Given the description of an element on the screen output the (x, y) to click on. 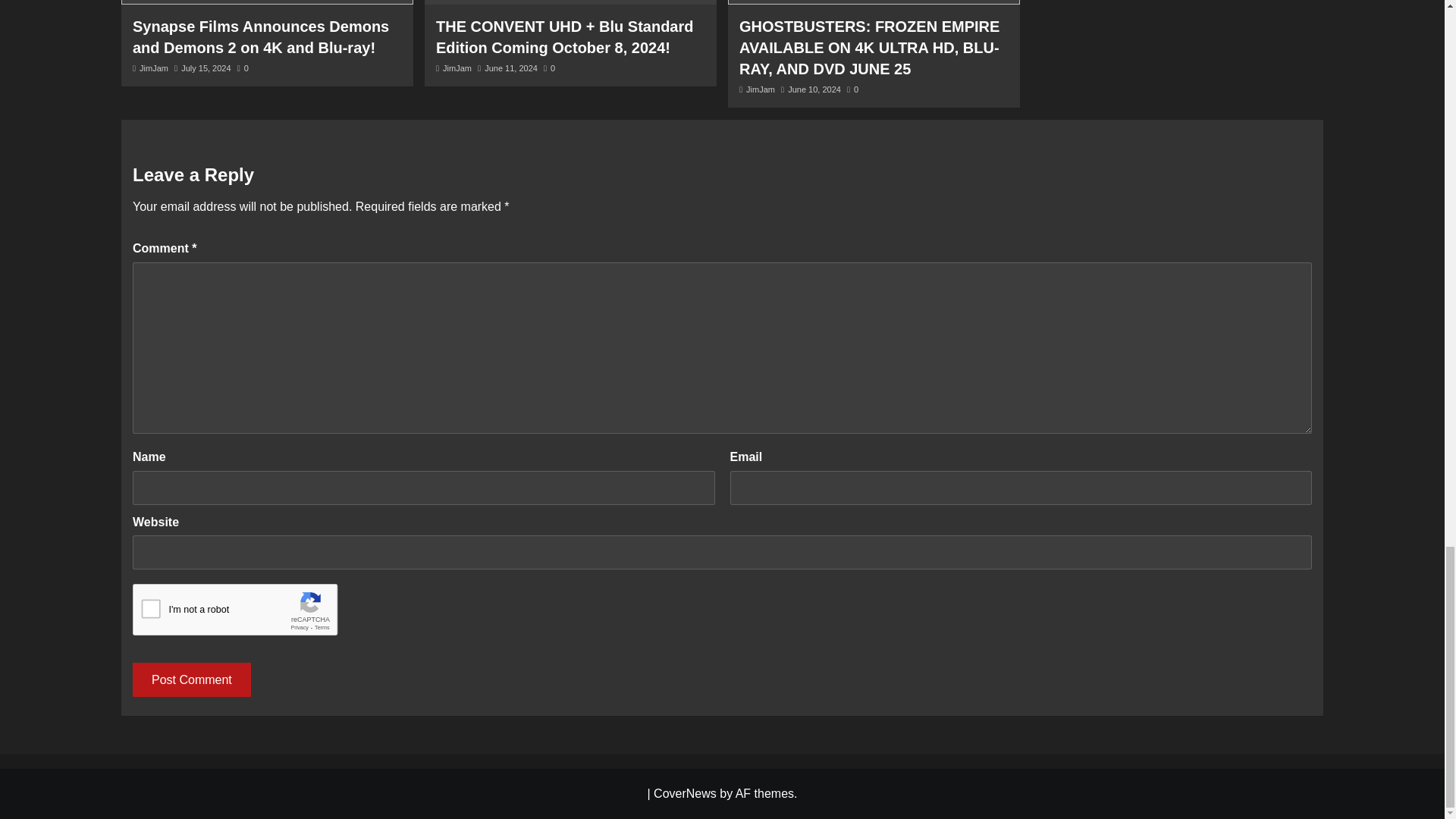
JimJam (153, 67)
June 11, 2024 (510, 67)
0 (853, 89)
0 (548, 67)
July 15, 2024 (205, 67)
JimJam (759, 89)
June 10, 2024 (814, 89)
CoverNews (684, 793)
Post Comment (191, 679)
